Given the description of an element on the screen output the (x, y) to click on. 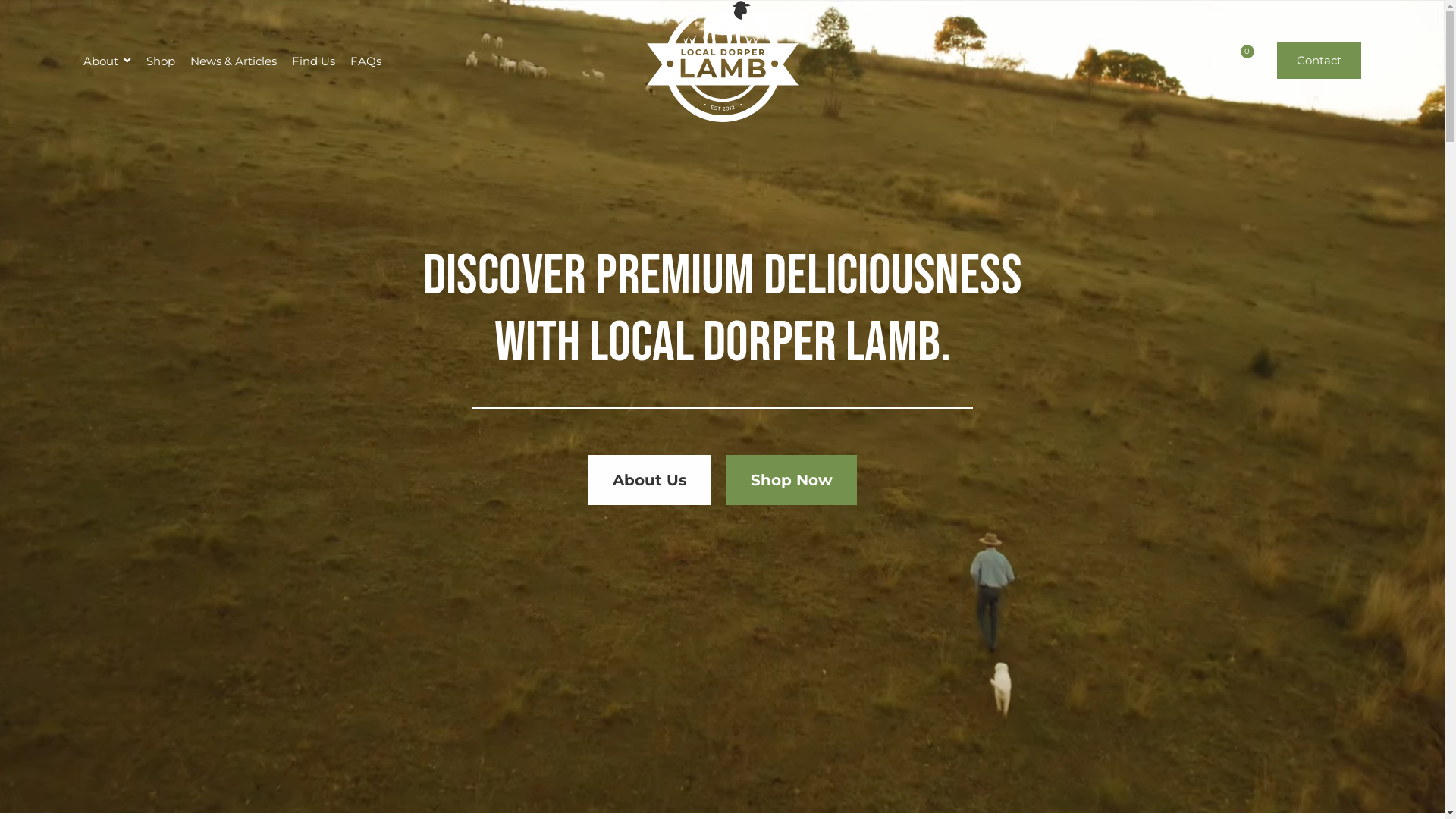
News & Articles Element type: text (233, 61)
Find Us Element type: text (313, 61)
Shop Element type: text (160, 61)
About Element type: text (106, 61)
0 Element type: text (1245, 60)
Contact Element type: text (1319, 60)
About Us Element type: text (649, 480)
Shop Now Element type: text (791, 480)
FAQs Element type: text (365, 61)
